Given the description of an element on the screen output the (x, y) to click on. 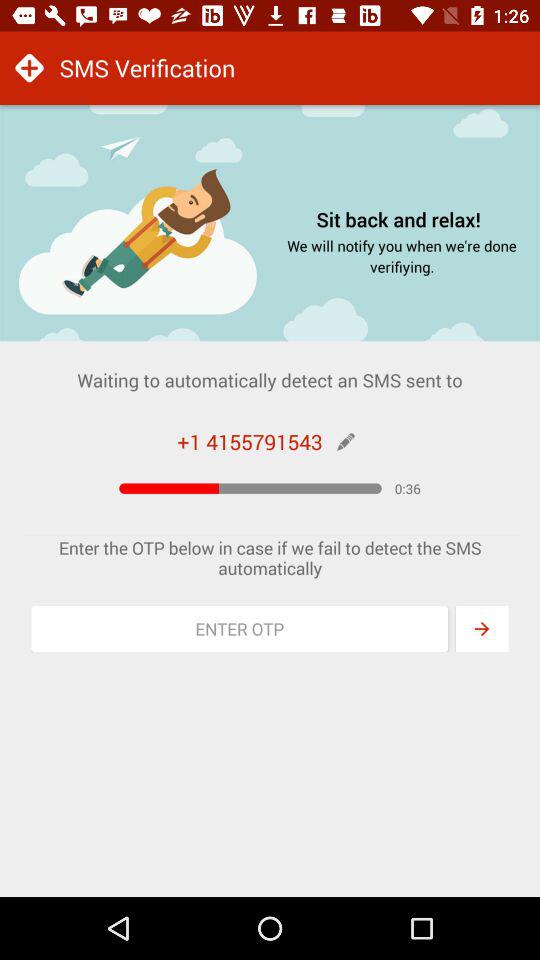
edit phone number (345, 441)
